Given the description of an element on the screen output the (x, y) to click on. 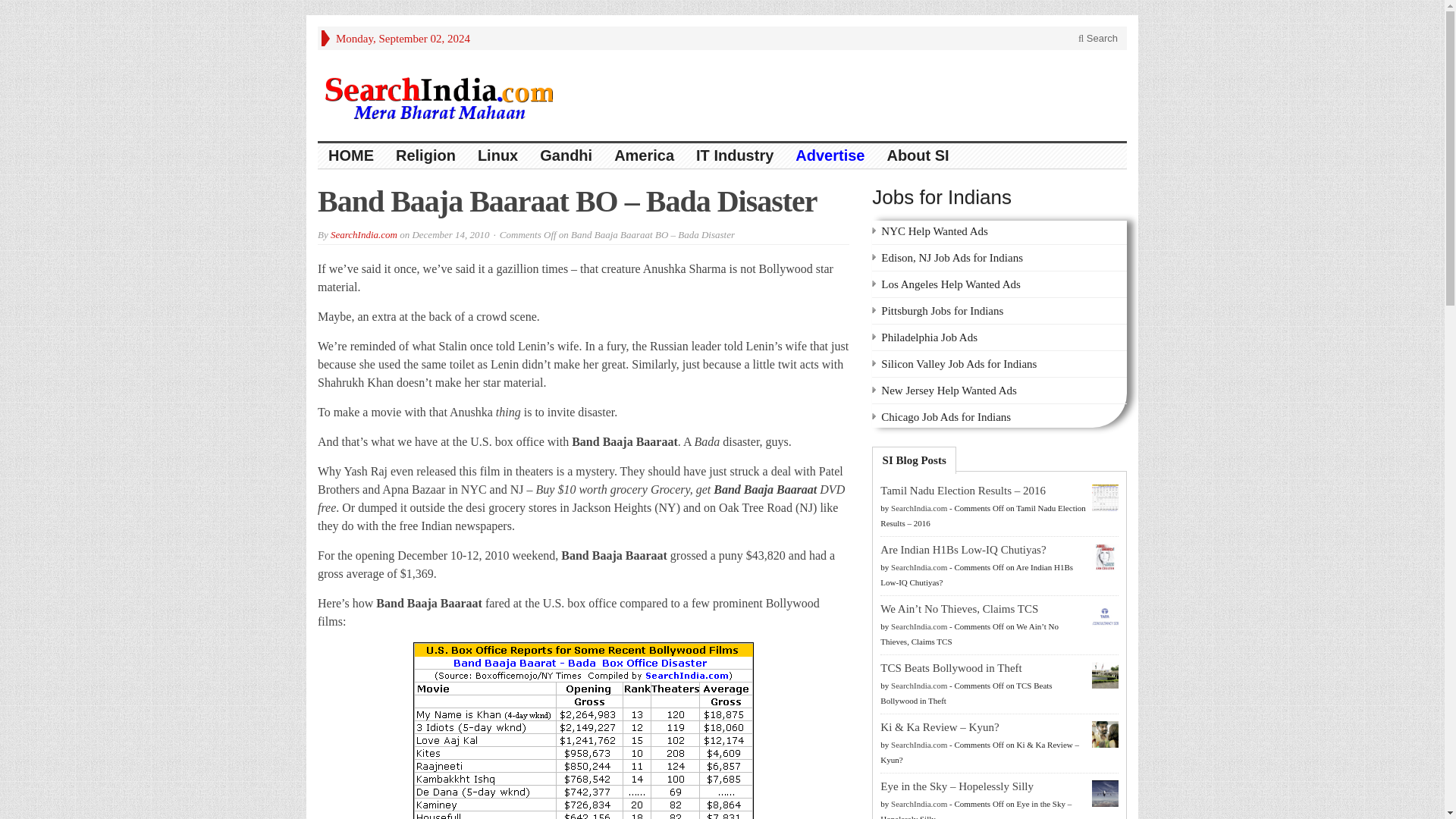
Posts by SearchIndia.com (919, 685)
America (644, 155)
Posts by SearchIndia.com (919, 744)
About SI (917, 155)
SearchIndia.com (363, 234)
Advertise (830, 155)
Linux (498, 155)
Permalink to TCS Beats Bollywood in Theft (951, 667)
HOME (351, 155)
Posts by SearchIndia.com (919, 625)
